Given the description of an element on the screen output the (x, y) to click on. 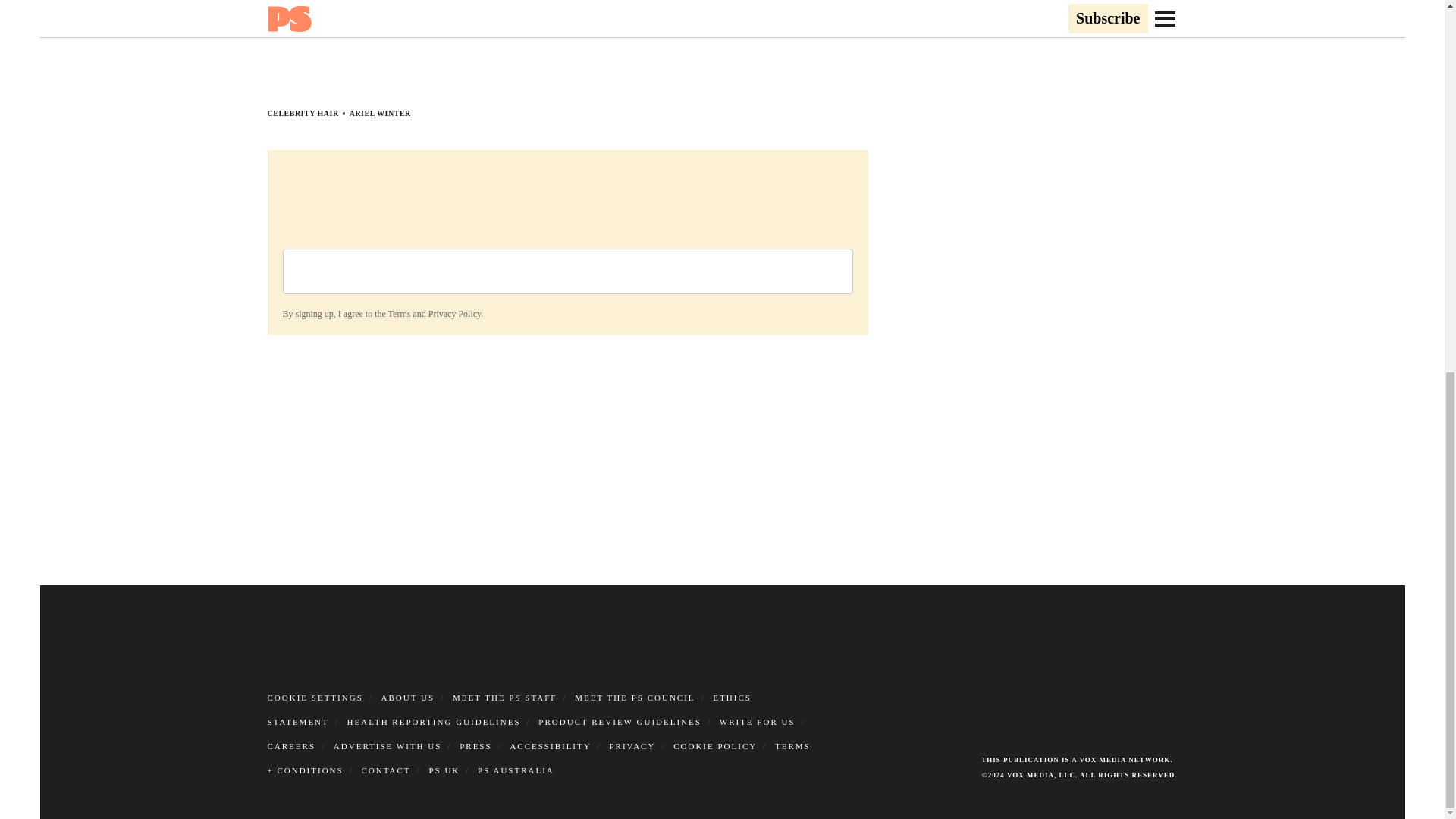
Terms (399, 313)
CAREERS (290, 746)
PS AUSTRALIA (515, 770)
CELEBRITY HAIR (301, 112)
WRITE FOR US (756, 721)
PRODUCT REVIEW GUIDELINES (619, 721)
ADVERTISE WITH US (387, 746)
PRIVACY (633, 746)
ETHICS STATEMENT (508, 709)
PRESS (476, 746)
